Given the description of an element on the screen output the (x, y) to click on. 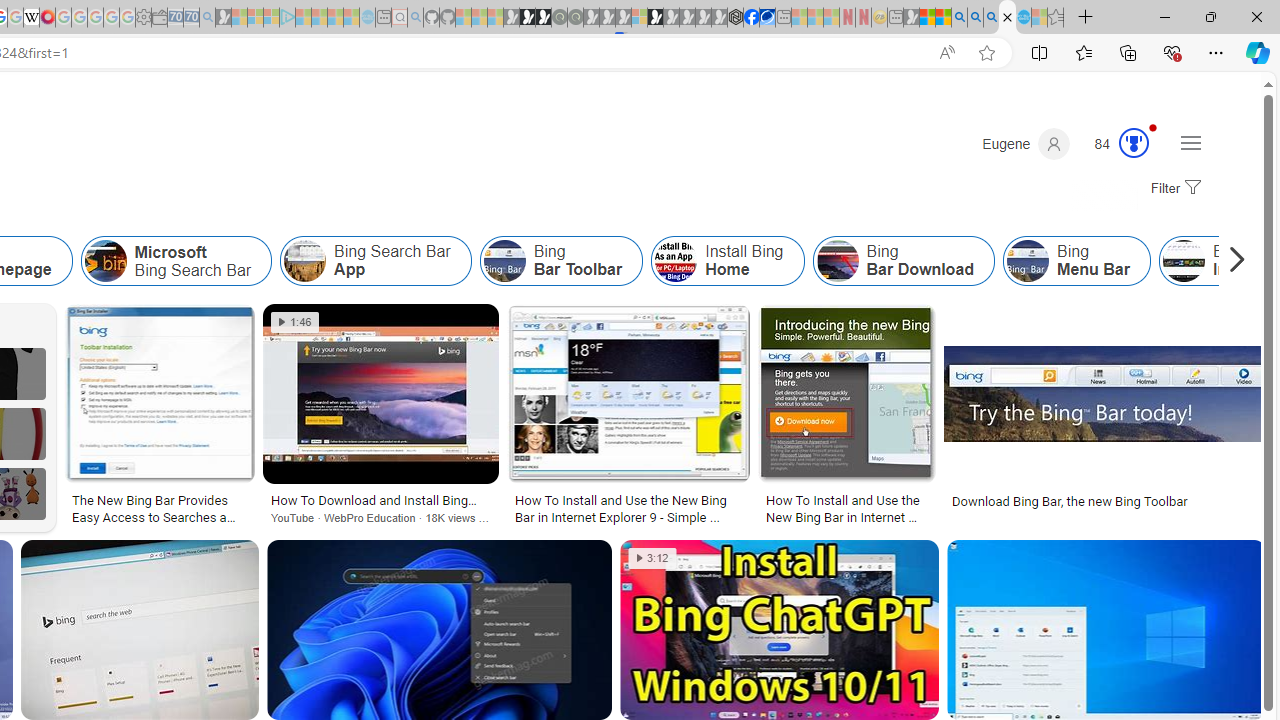
Bing Bar Download (903, 260)
Bing Search Bar App (305, 260)
